Given the description of an element on the screen output the (x, y) to click on. 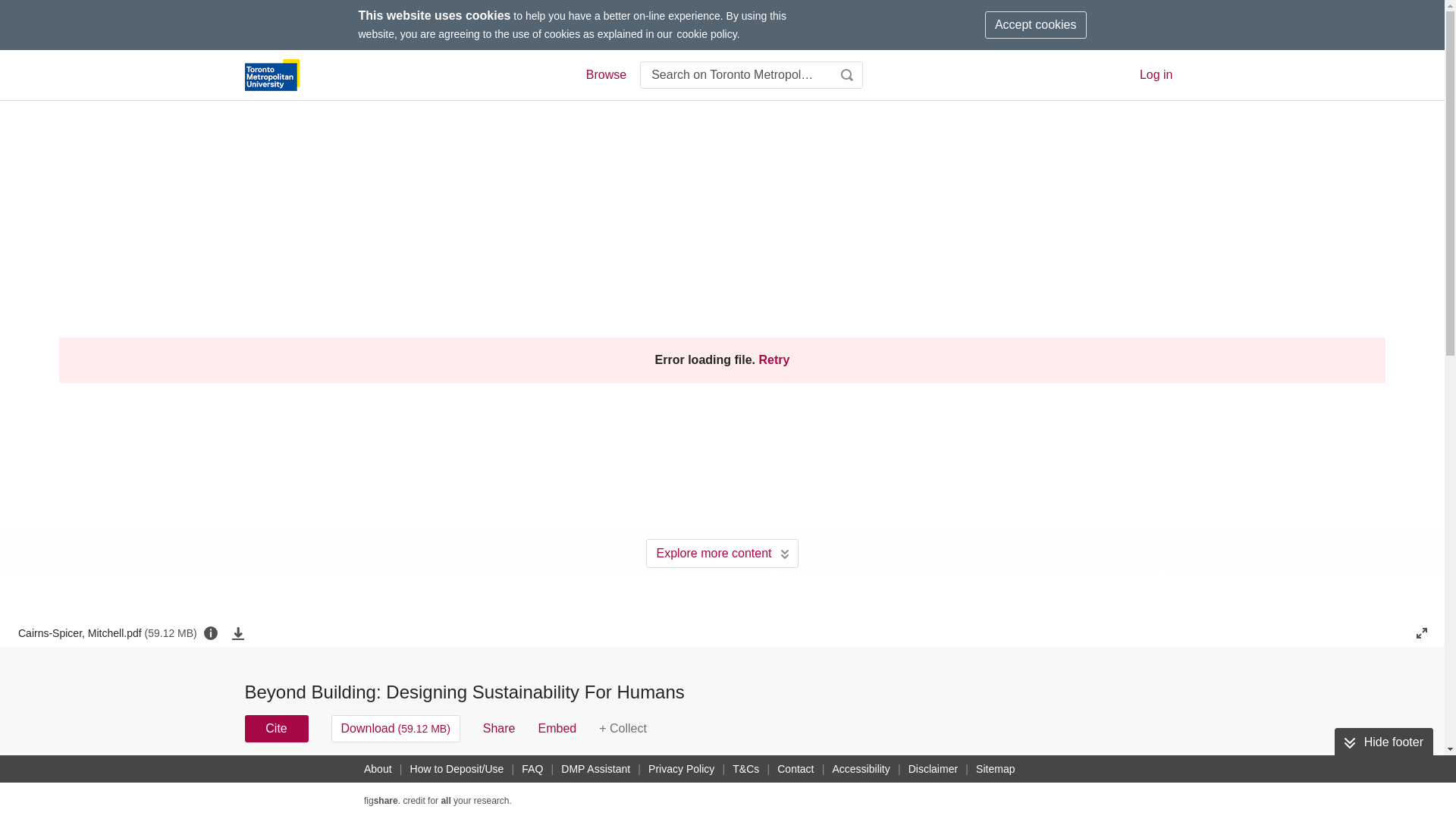
About (377, 769)
Embed (557, 728)
Hide footer (1383, 742)
Accept cookies (1035, 24)
Share (499, 728)
Retry (773, 360)
Browse (605, 75)
Explore more content (721, 553)
USAGE METRICS (976, 782)
cookie policy (706, 33)
Cite (275, 728)
Cairns-Spicer, Mitchell.pdf (106, 633)
Log in (1156, 74)
you need to log in first (622, 728)
